Given the description of an element on the screen output the (x, y) to click on. 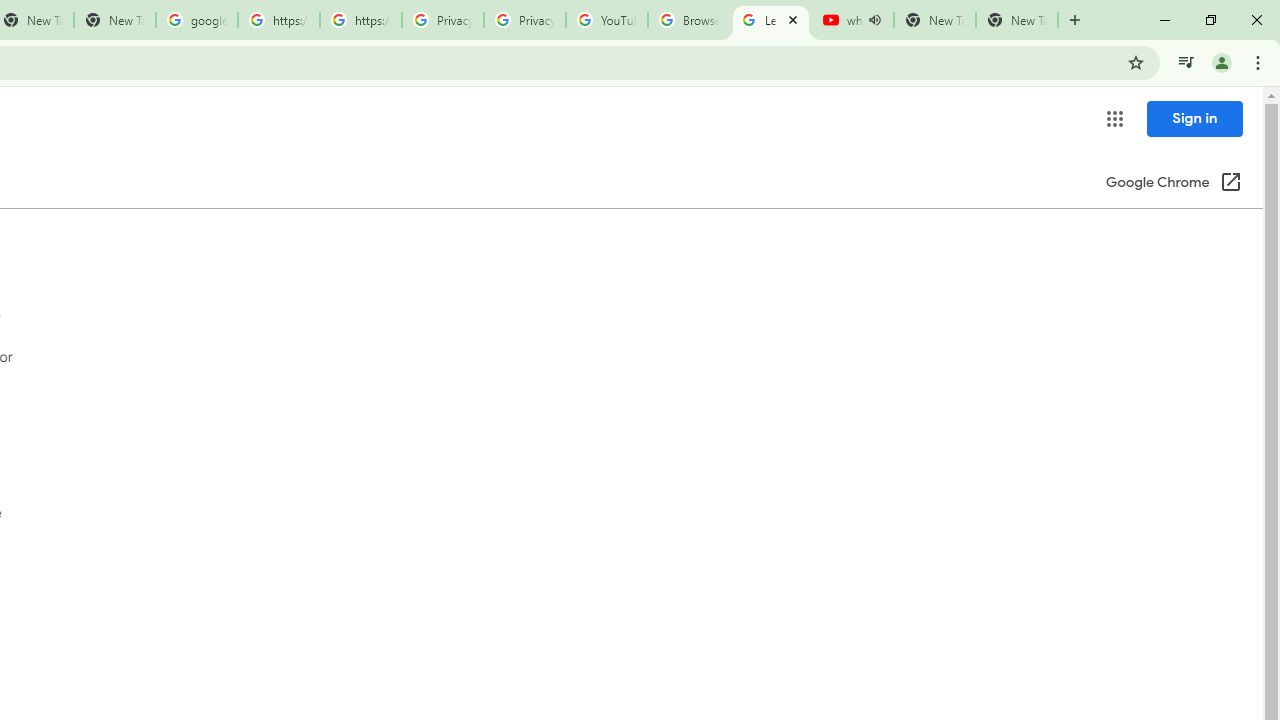
Mute tab (874, 20)
YouTube (606, 20)
